Given the description of an element on the screen output the (x, y) to click on. 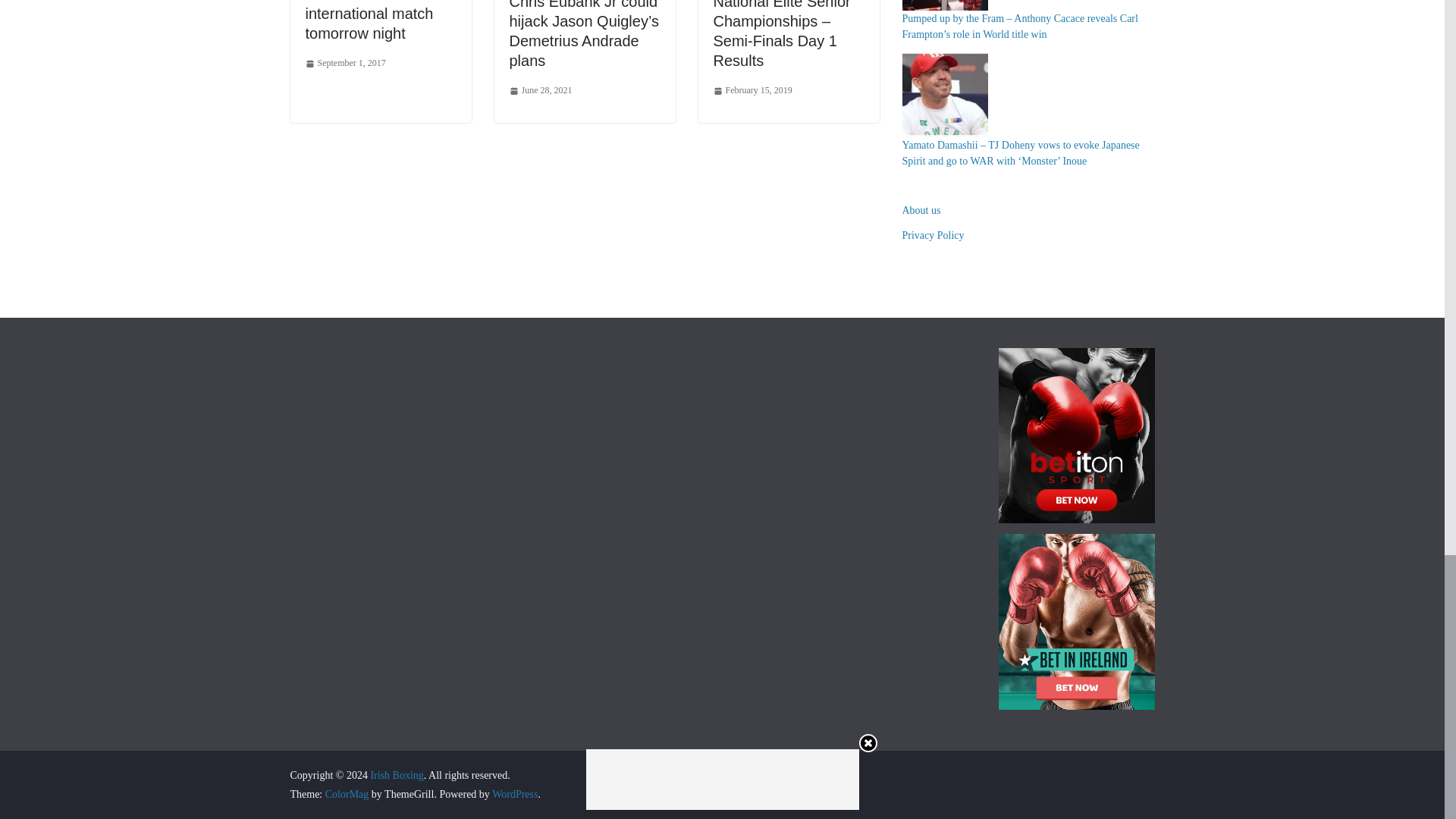
Ireland to face India in international match tomorrow night (379, 20)
February 15, 2019 (752, 90)
Irish Boxing (396, 775)
9:29 pm (752, 90)
6:41 am (540, 90)
Ireland to face India in international match tomorrow night (379, 20)
September 1, 2017 (344, 63)
12:38 pm (344, 63)
June 28, 2021 (540, 90)
